Given the description of an element on the screen output the (x, y) to click on. 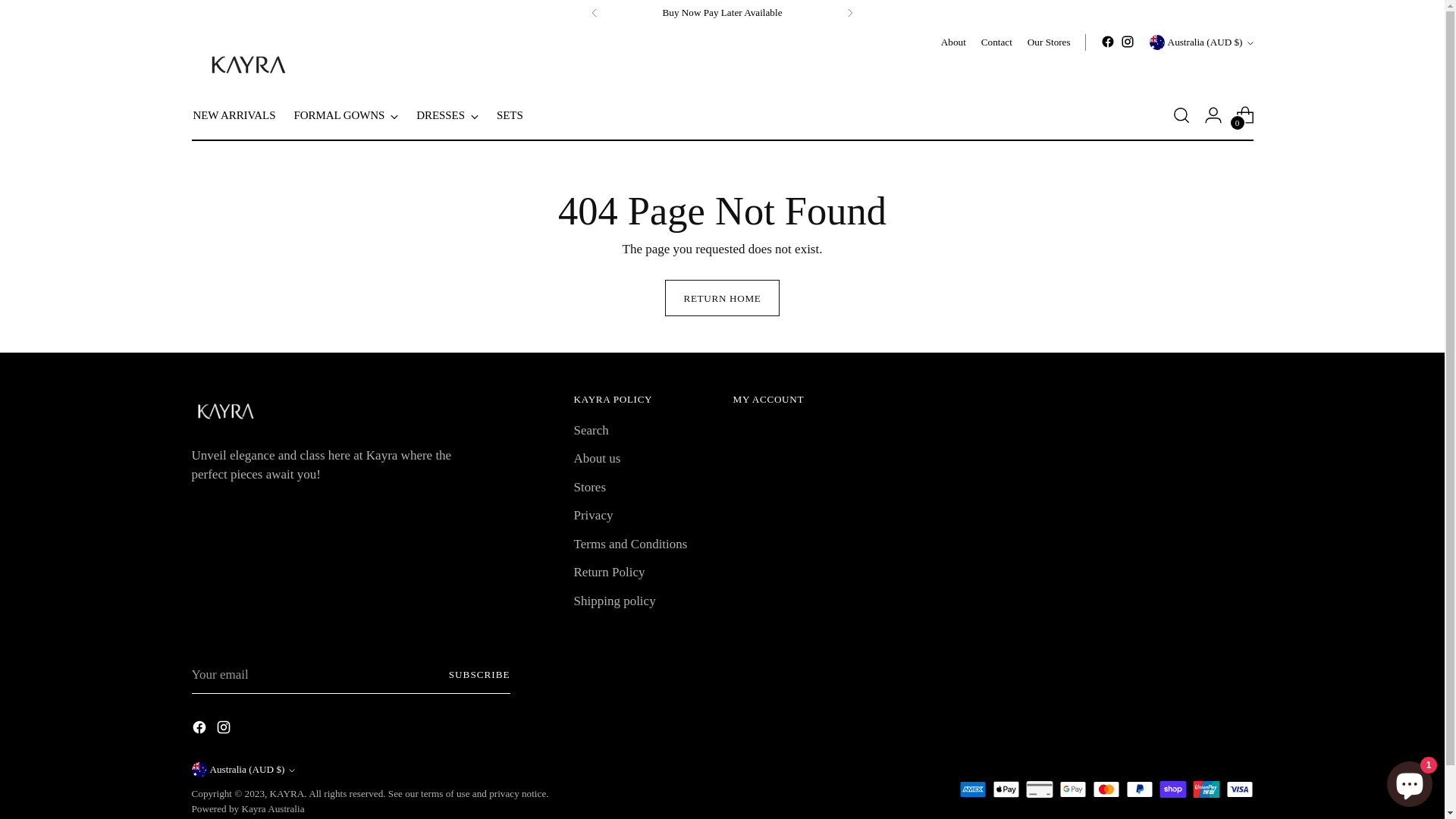
RETURN HOME Element type: text (722, 297)
KAYRA on Facebook Element type: hover (200, 729)
SETS Element type: text (509, 114)
Powered by Kayra Australia Element type: text (247, 808)
Shipping policy Element type: text (614, 600)
Our Stores Element type: text (1048, 42)
SUBSCRIBE Element type: text (479, 674)
KAYRA on Facebook Element type: hover (1107, 41)
Australia (AUD $) Element type: text (1201, 42)
Stores Element type: text (589, 487)
Privacy Element type: text (592, 515)
Australia (AUD $) Element type: text (242, 769)
Contact Element type: text (996, 42)
NEW ARRIVALS Element type: text (233, 114)
KAYRA on Instagram Element type: hover (224, 729)
DRESSES Element type: text (447, 114)
KAYRA on Instagram Element type: hover (1127, 41)
KAYRA Element type: text (286, 793)
Shopify online store chat Element type: hover (1409, 780)
Previous Element type: hover (594, 12)
Search Element type: text (590, 430)
Next Element type: hover (849, 12)
About us Element type: text (596, 458)
Return Policy Element type: text (608, 571)
0 Element type: text (1245, 115)
About Element type: text (953, 42)
Terms and Conditions Element type: text (630, 543)
FORMAL GOWNS Element type: text (345, 114)
